Given the description of an element on the screen output the (x, y) to click on. 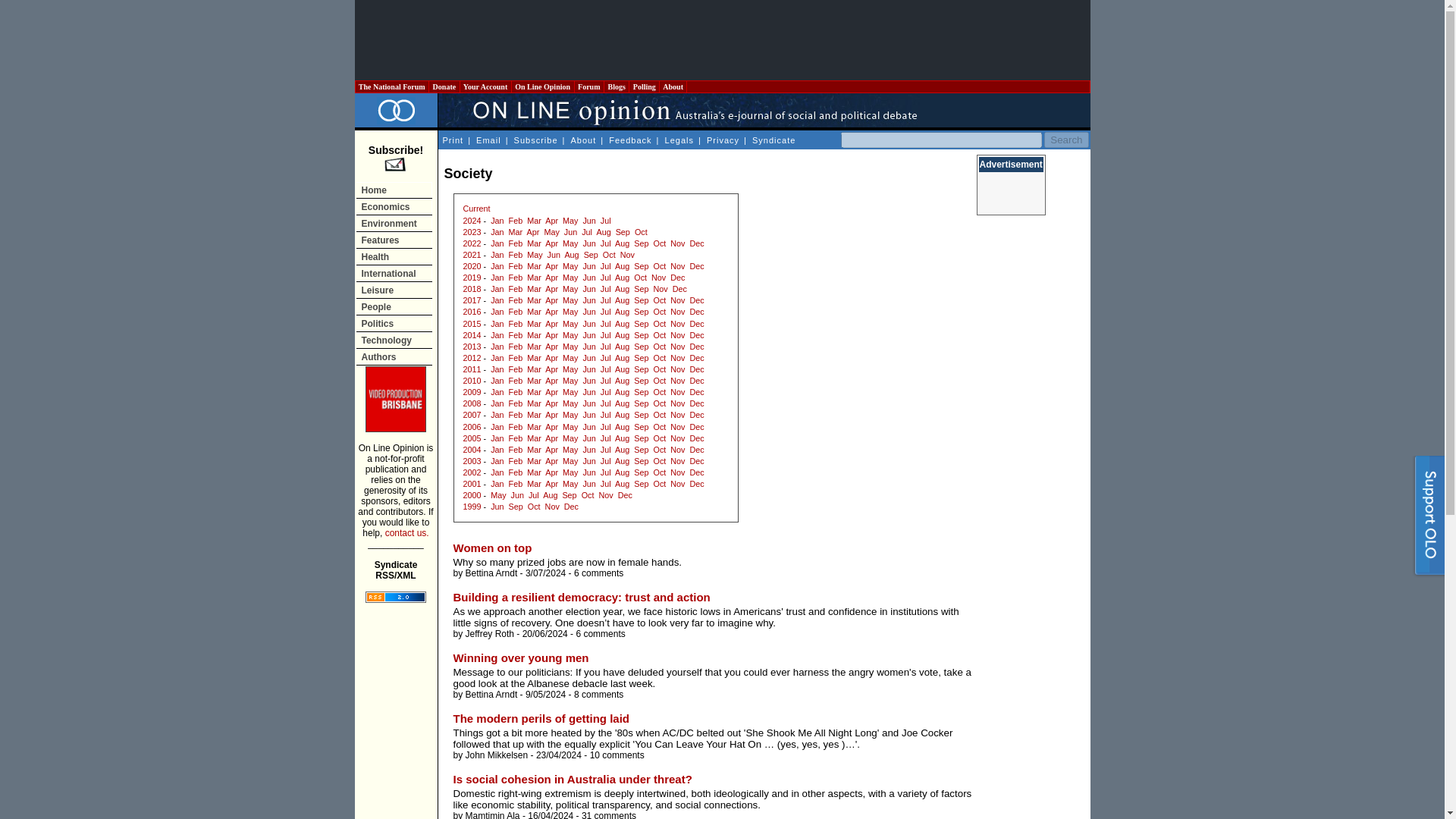
Politics (394, 323)
Subscribe! (395, 158)
 The National Forum  (391, 86)
 Forum  (589, 86)
 Your Account  (485, 86)
Search (1065, 139)
Leisure (394, 289)
 About  (672, 86)
 Donate  (444, 86)
 On Line Opinion  (542, 86)
Home (394, 189)
Advertisement (721, 39)
Features (394, 239)
Health (394, 256)
Environment (394, 222)
